Given the description of an element on the screen output the (x, y) to click on. 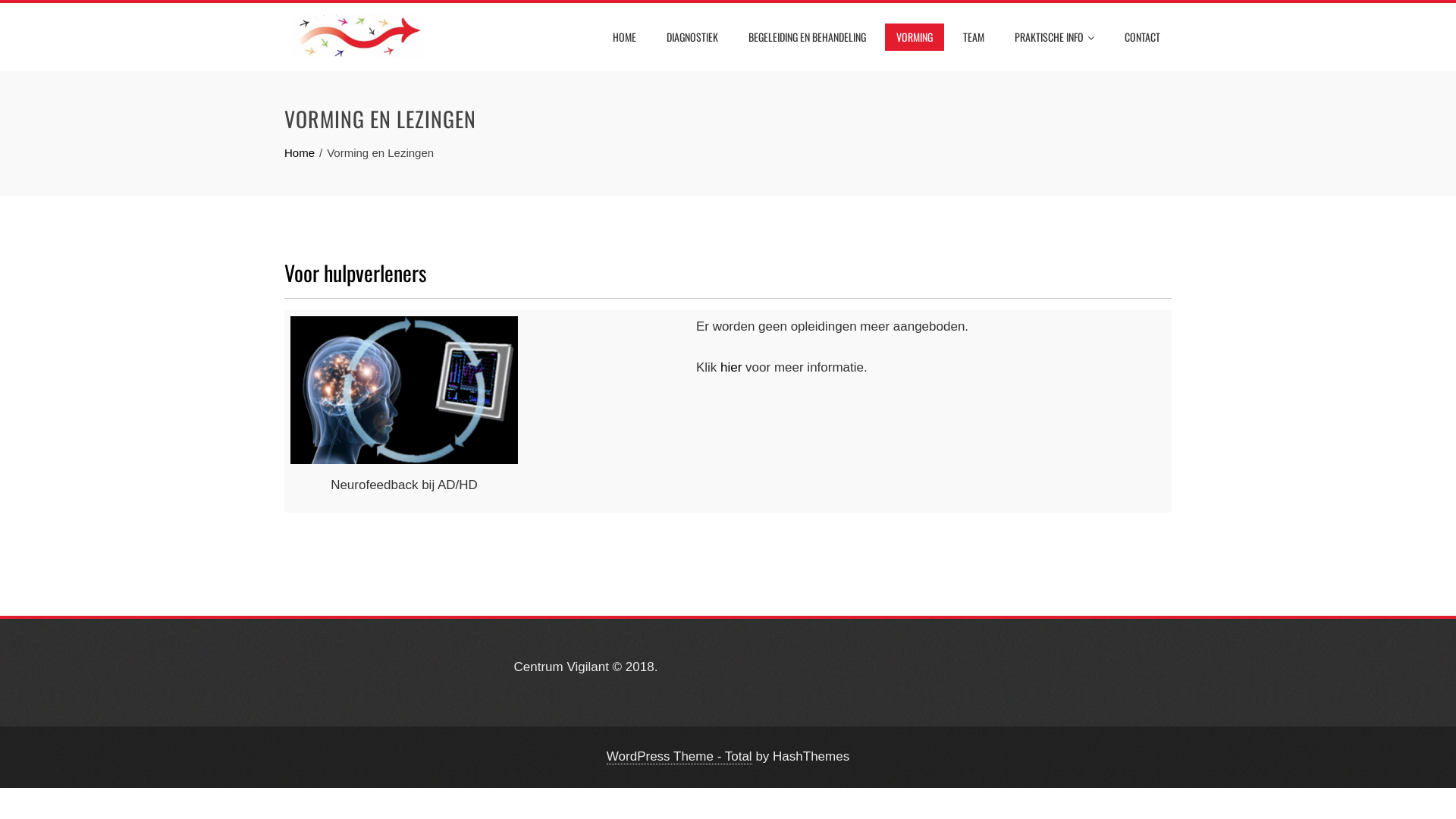
Home Element type: text (299, 152)
VORMING Element type: text (914, 36)
BEGELEIDING EN BEHANDELING Element type: text (807, 36)
WordPress Theme - Total Element type: text (679, 756)
HOME Element type: text (624, 36)
CONTACT Element type: text (1142, 36)
PRAKTISCHE INFO Element type: text (1054, 36)
hier Element type: text (730, 367)
DIAGNOSTIEK Element type: text (692, 36)
TEAM Element type: text (973, 36)
